Given the description of an element on the screen output the (x, y) to click on. 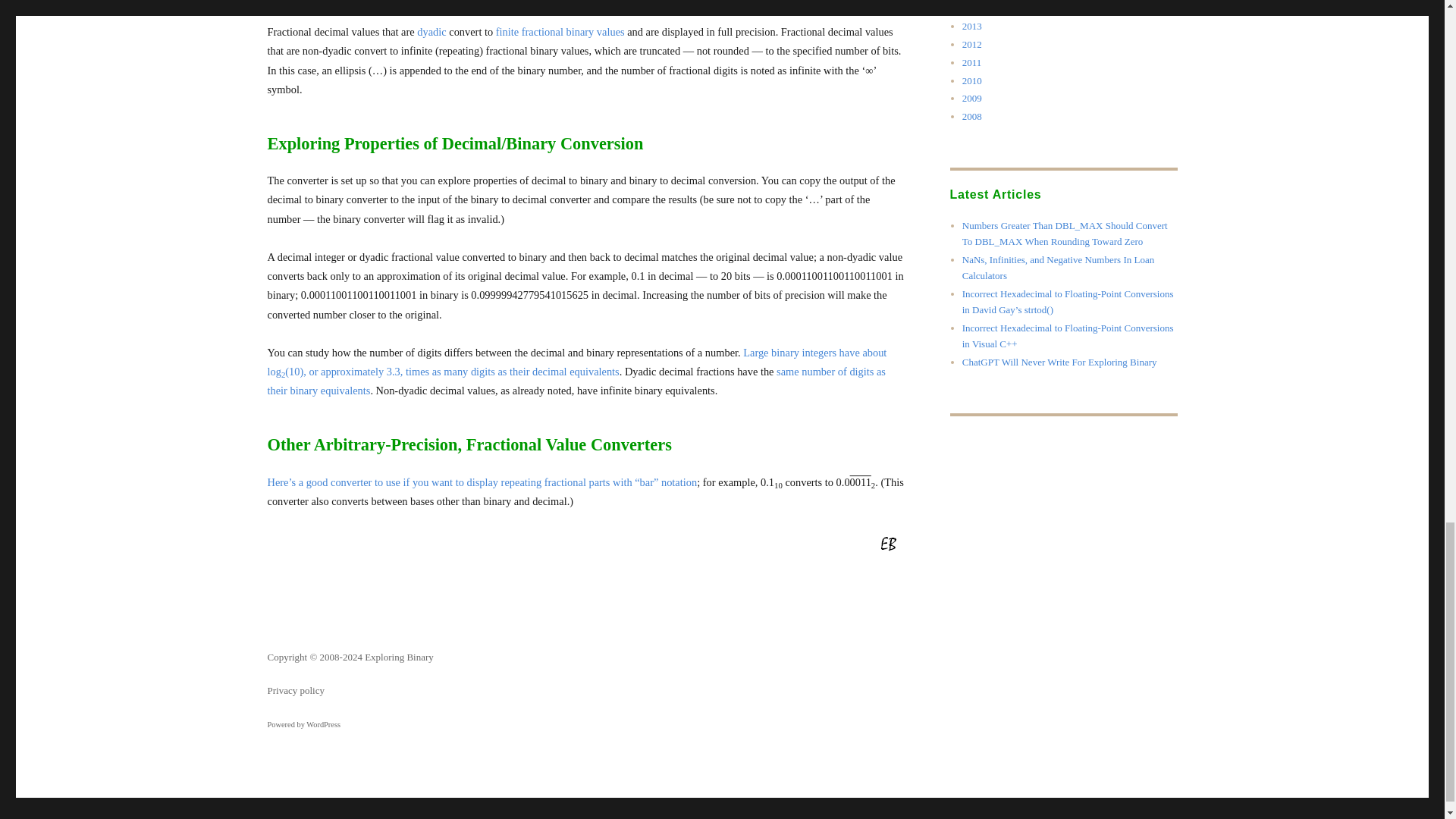
Wikipedia article on dyadic fraction (430, 30)
same number of digits as their binary equivalents (575, 379)
finite fractional binary values (560, 30)
dyadic (430, 30)
